Given the description of an element on the screen output the (x, y) to click on. 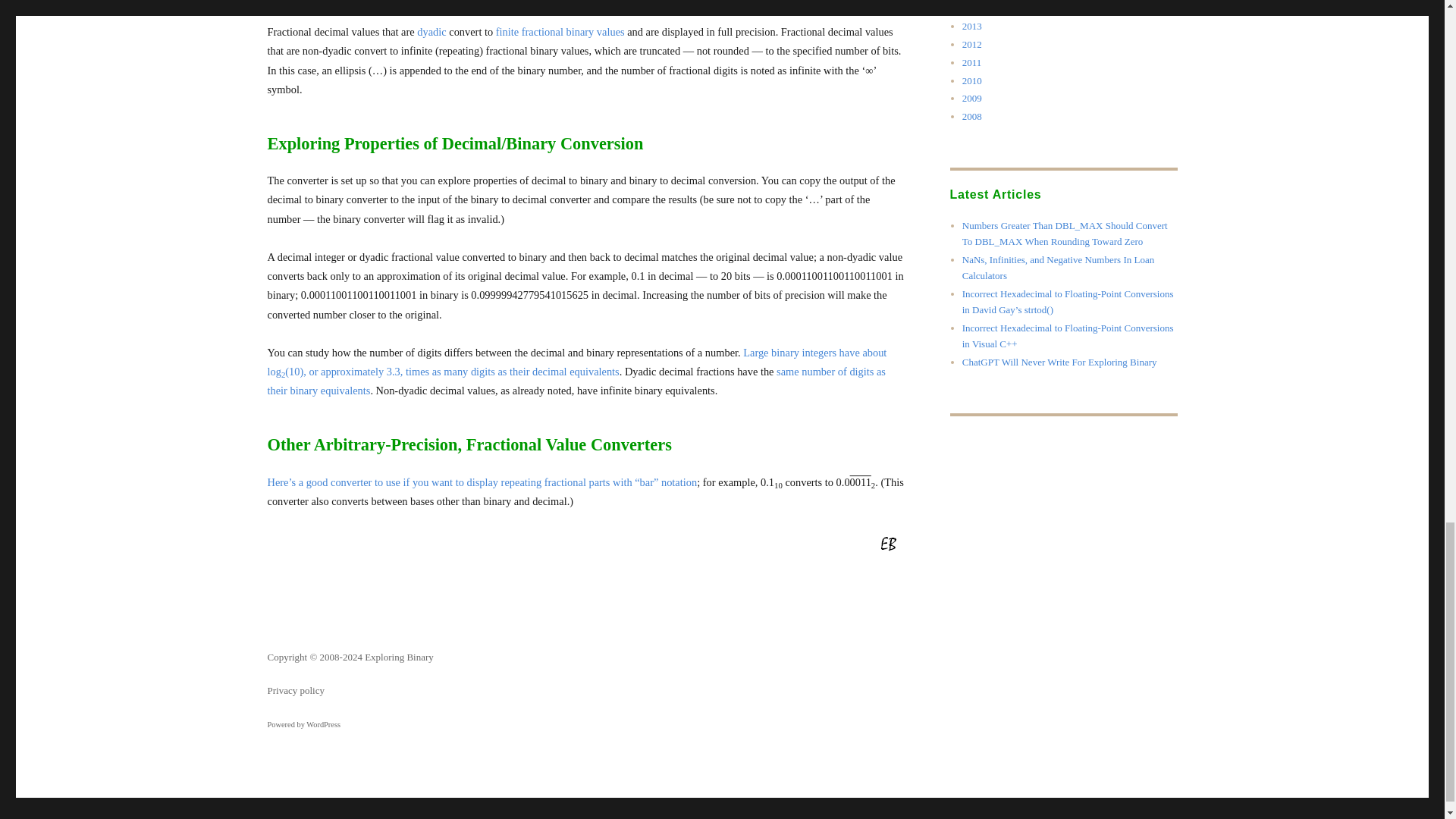
Wikipedia article on dyadic fraction (430, 30)
same number of digits as their binary equivalents (575, 379)
finite fractional binary values (560, 30)
dyadic (430, 30)
